Given the description of an element on the screen output the (x, y) to click on. 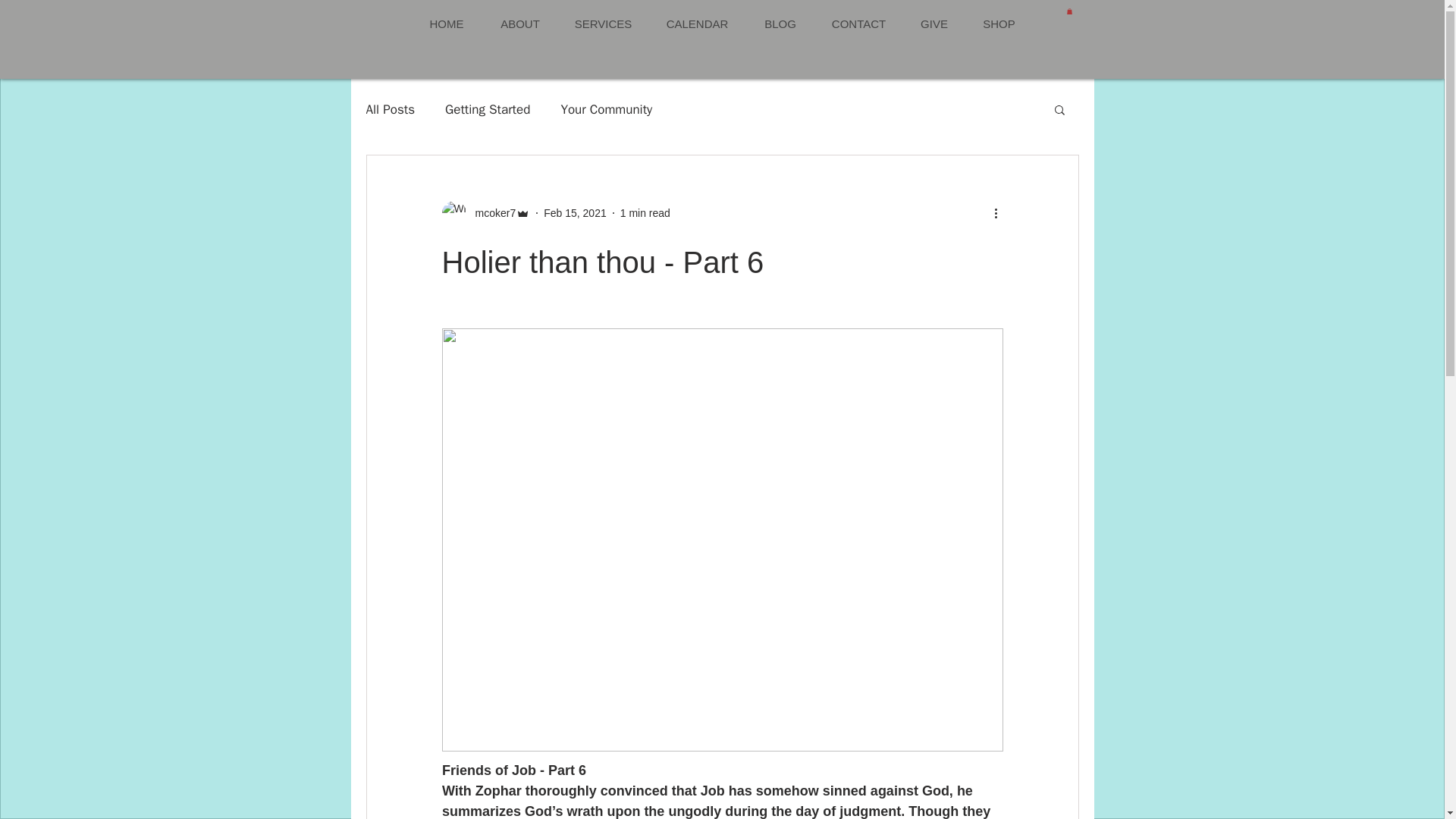
SHOP (997, 24)
All Posts (389, 108)
Getting Started (487, 108)
Feb 15, 2021 (575, 213)
ABOUT (519, 24)
BLOG (779, 24)
mcoker7 (485, 212)
HOME (445, 24)
Your Community (606, 108)
CALENDAR (696, 24)
SERVICES (602, 24)
1 min read (644, 213)
GIVE (932, 24)
CONTACT (857, 24)
mcoker7 (490, 213)
